Given the description of an element on the screen output the (x, y) to click on. 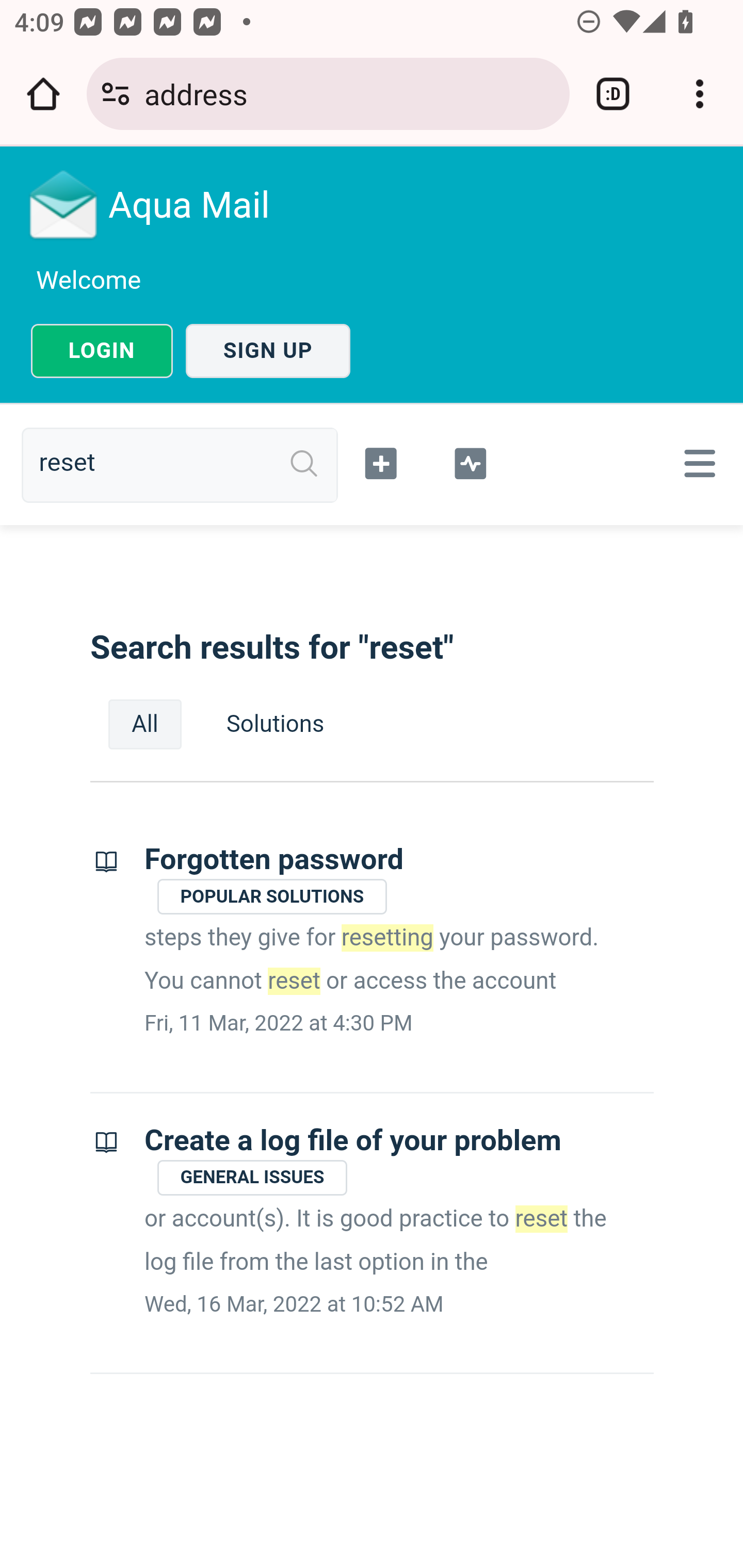
Open the home page (43, 93)
Connection is secure (115, 93)
Switch or close tabs (612, 93)
Customize and control Google Chrome (699, 93)
address (349, 92)
Logo (63, 204)
LOGIN (101, 351)
SIGN UP (268, 351)
 (695, 463)
reset (187, 464)
Search (304, 464)
 (381, 460)
 (470, 460)
All (145, 724)
Solutions (275, 724)
Forgotten password (274, 860)
Create a log file of your problem (353, 1140)
